Given the description of an element on the screen output the (x, y) to click on. 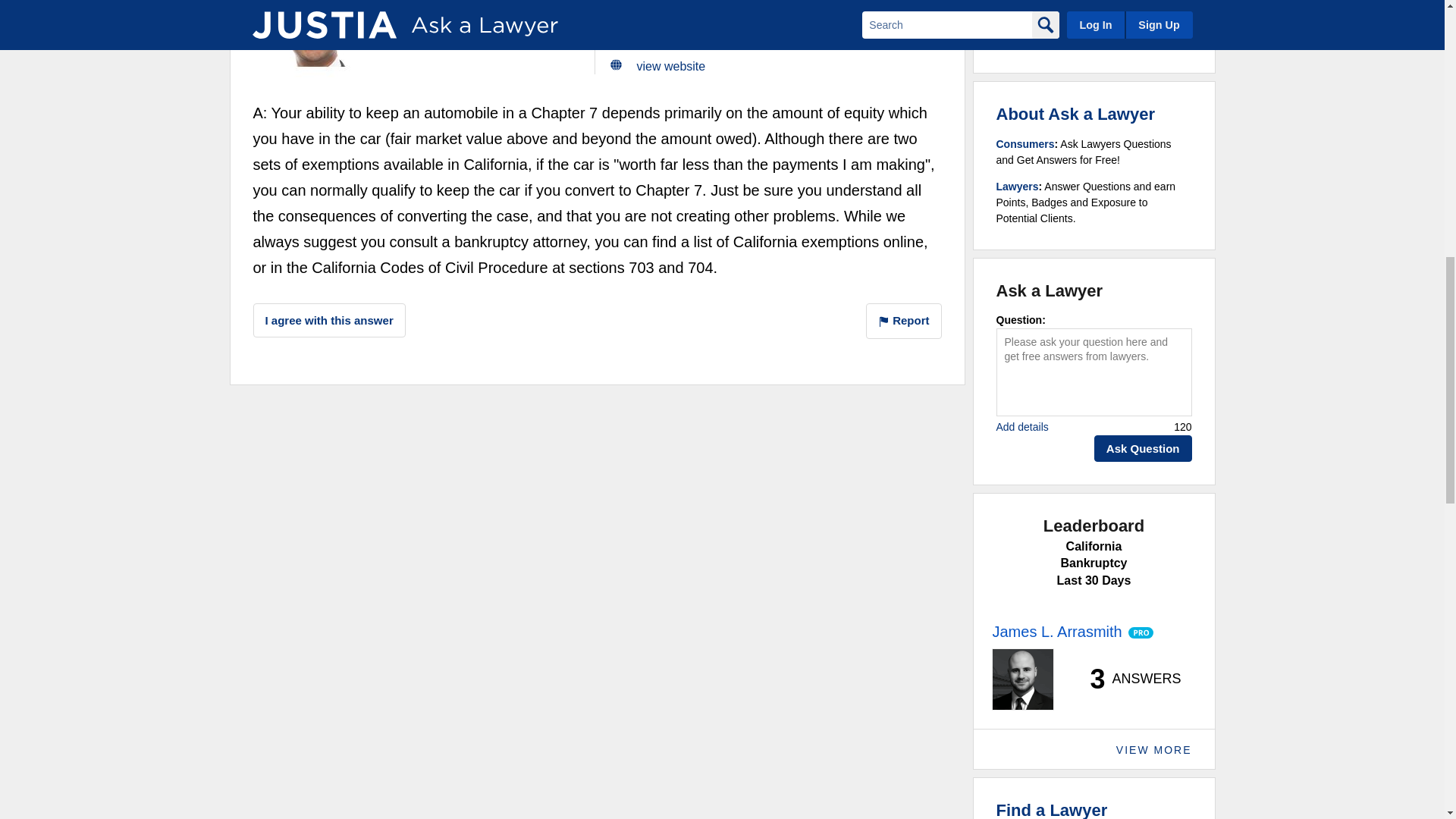
Ask a Lawyer - FAQs - Consumers (1024, 143)
Ask a Lawyer - FAQs - Lawyers (1017, 186)
Mr. Dheeraj K. Singhal (313, 38)
Ask a Lawyer - Leaderboard - Lawyer Name (1056, 630)
Ask a Lawyer - Leaderboard - Lawyer Photo (1021, 679)
Ask a Lawyer - Leaderboard - Lawyer Stats (1127, 678)
